Given the description of an element on the screen output the (x, y) to click on. 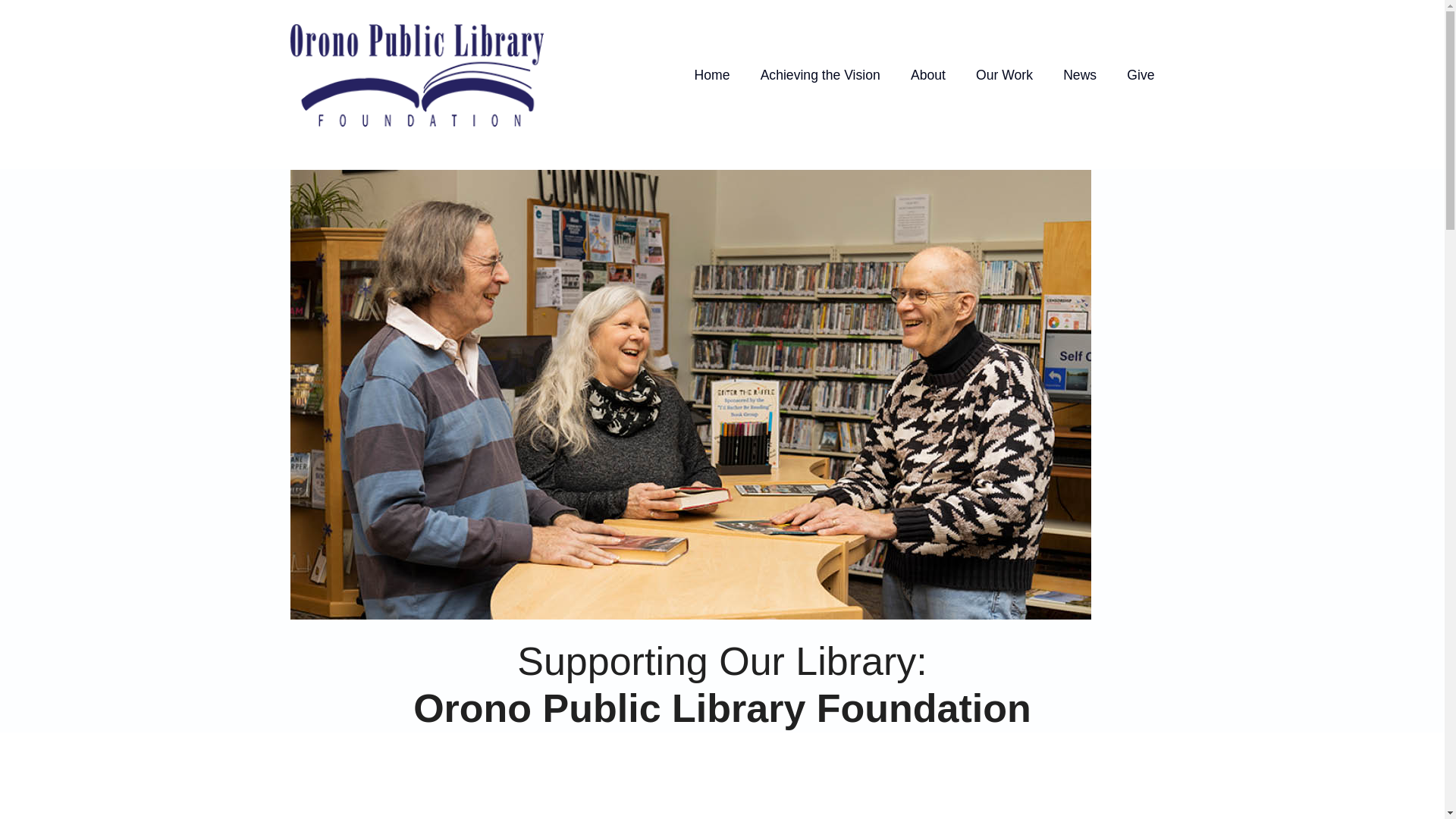
Achieving the Vision (820, 74)
About (927, 74)
Home (712, 74)
Our Work (1003, 74)
News (1079, 74)
Give (1140, 74)
